Given the description of an element on the screen output the (x, y) to click on. 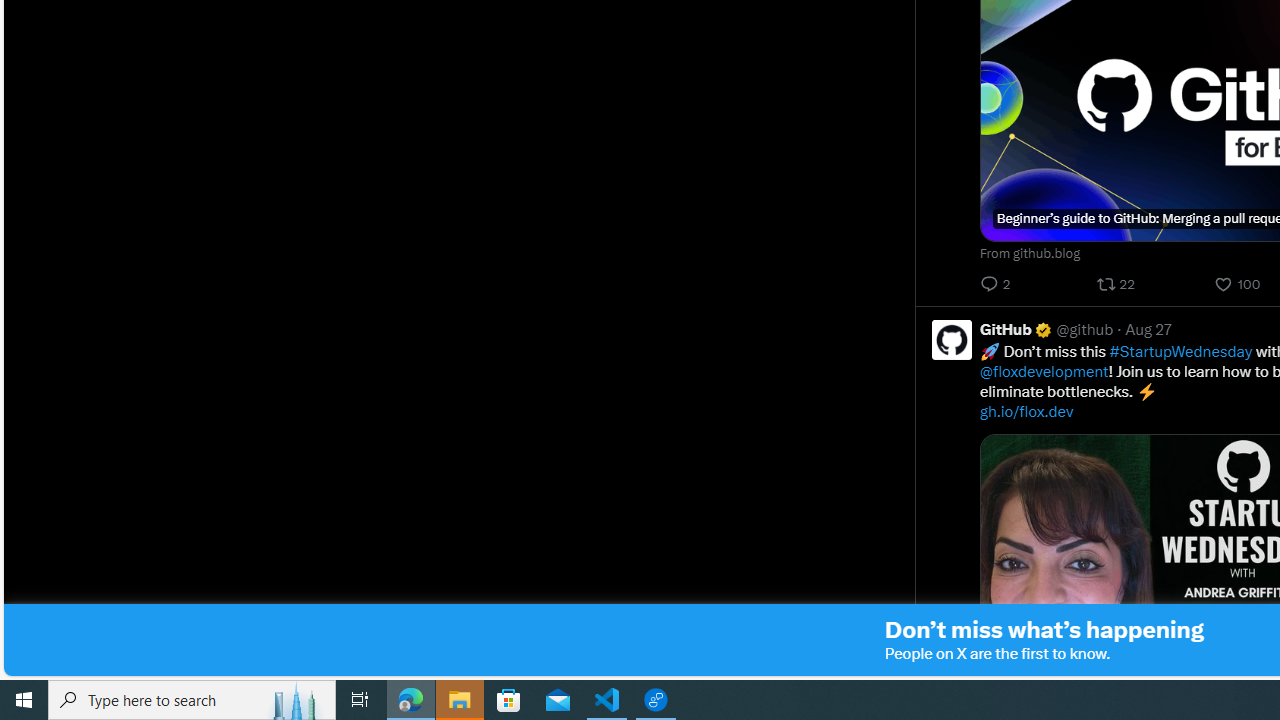
2 Replies. Reply (997, 284)
Square profile picture (952, 339)
gh.io/flox.dev (1026, 411)
Aug 27 (1148, 328)
Square profile picture (951, 339)
@floxdevelopment (1044, 371)
GitHub Verified account (1016, 328)
100 Likes. Like (1238, 284)
Verified account (1042, 329)
@github (1084, 328)
22 reposts. Repost (1118, 284)
#StartupWednesday (1180, 351)
